Given the description of an element on the screen output the (x, y) to click on. 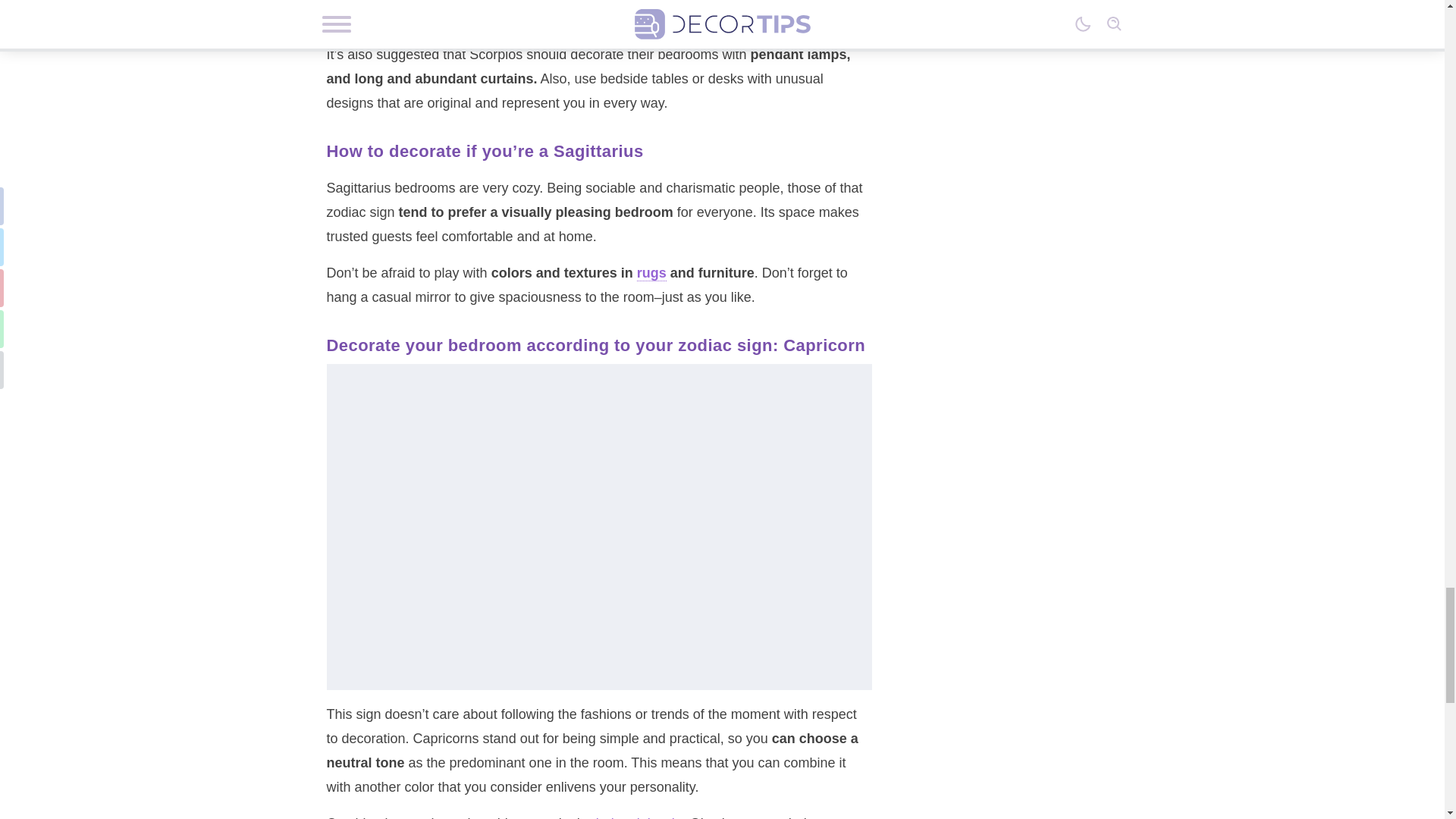
industrial style (638, 817)
rugs (651, 273)
